Given the description of an element on the screen output the (x, y) to click on. 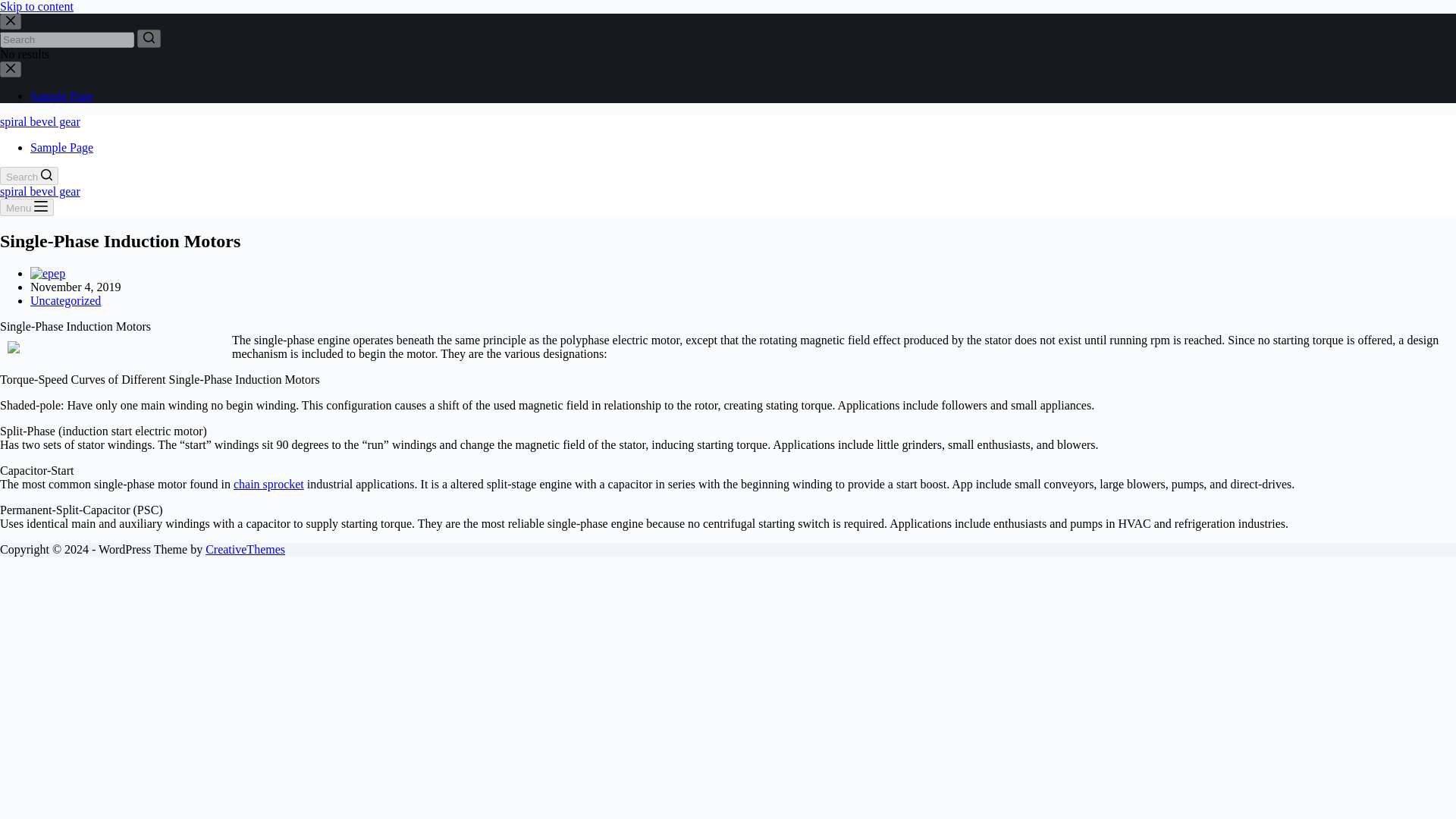
Skip to content (37, 6)
Menu (26, 207)
Search for... (66, 39)
Sample Page (61, 146)
Sample Page (61, 95)
CreativeThemes (245, 549)
spiral bevel gear (40, 191)
Search (29, 176)
ep (59, 273)
spiral bevel gear (40, 121)
chain sprocket (268, 483)
Uncategorized (65, 300)
Posts by ep (59, 273)
